Given the description of an element on the screen output the (x, y) to click on. 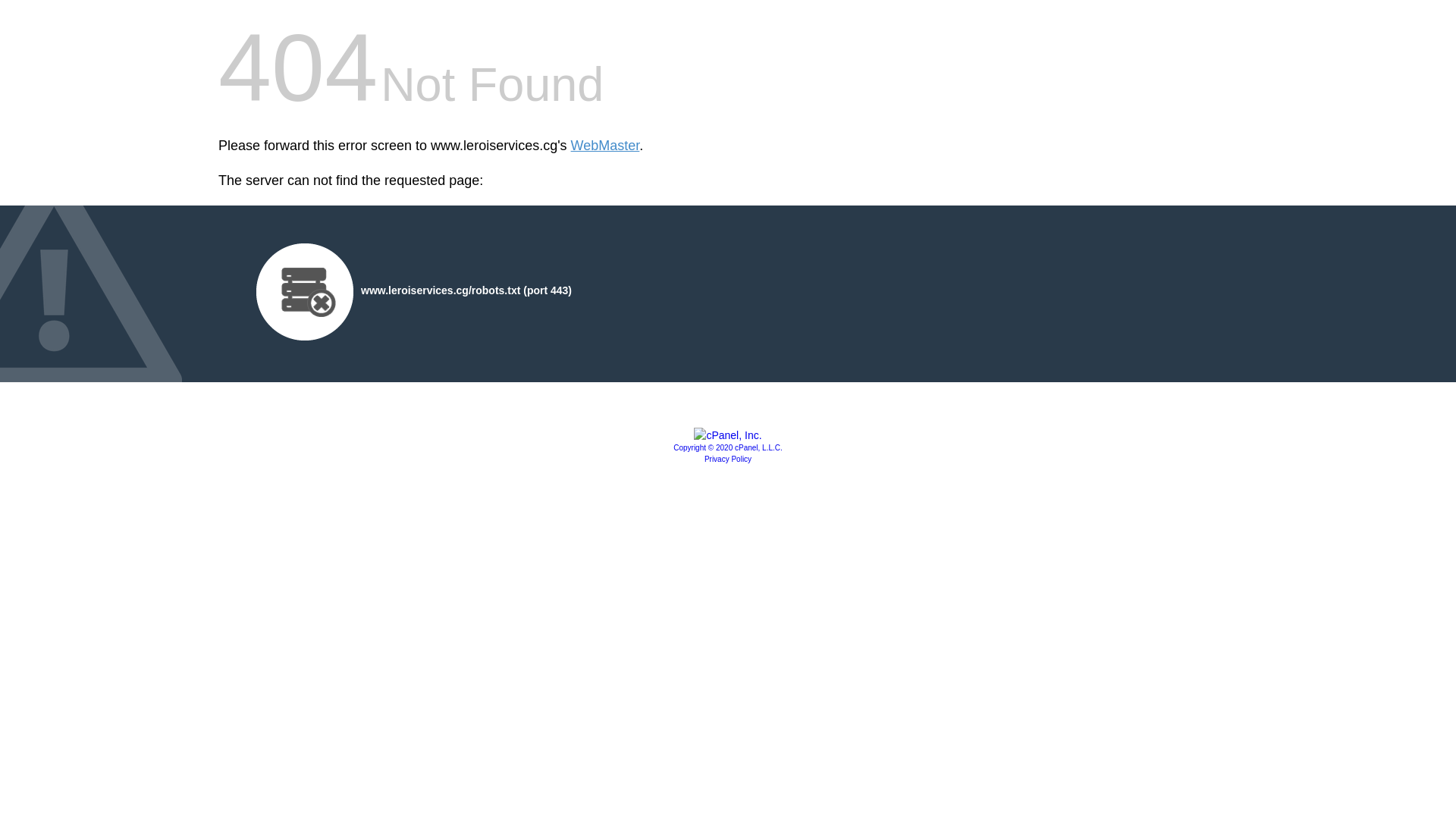
WebMaster Element type: text (605, 145)
cPanel, Inc. Element type: hover (727, 435)
Privacy Policy Element type: text (727, 459)
